Given the description of an element on the screen output the (x, y) to click on. 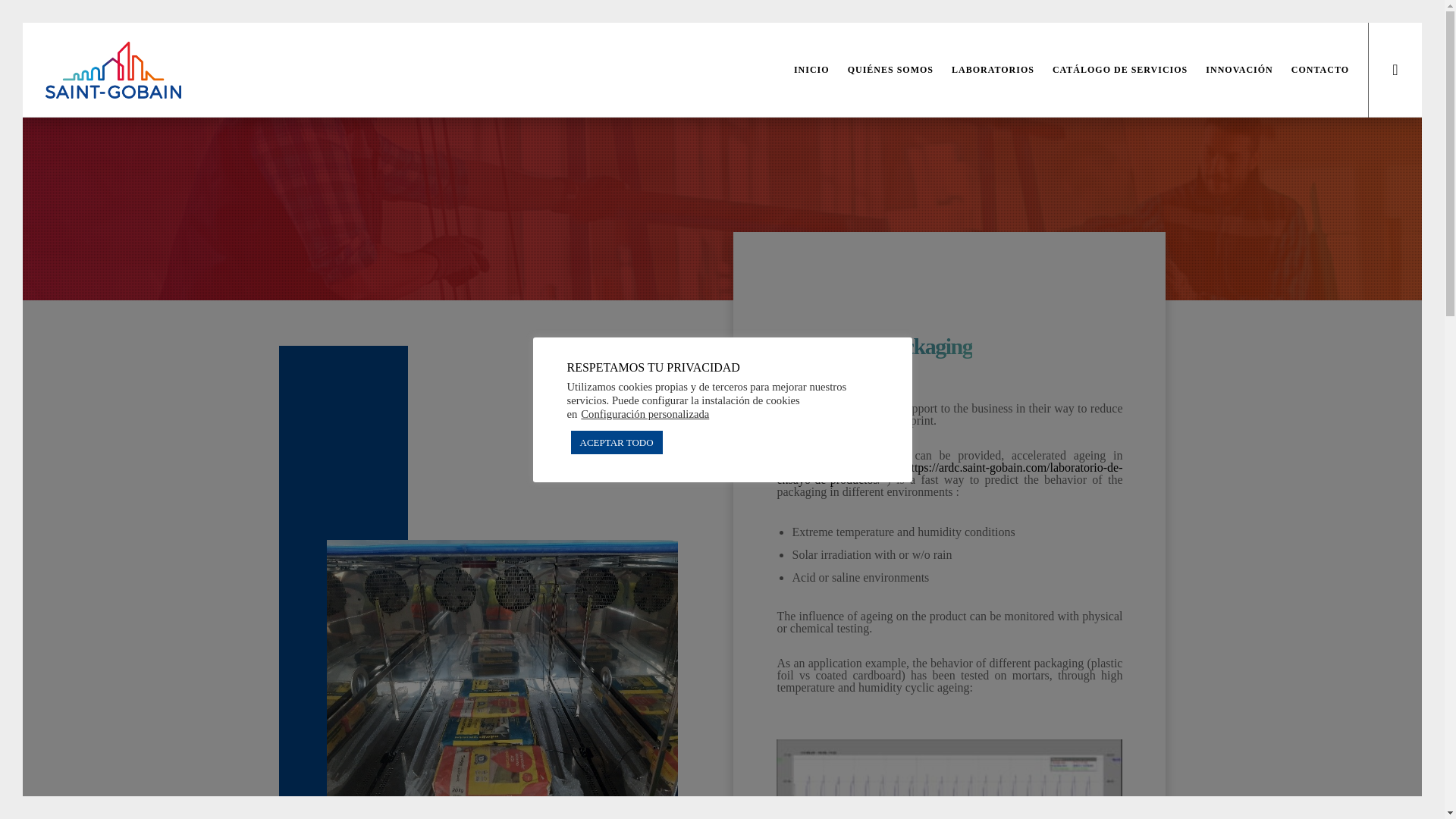
LABORATORIOS (983, 69)
CONTACTO (1310, 69)
INICIO (802, 69)
